Given the description of an element on the screen output the (x, y) to click on. 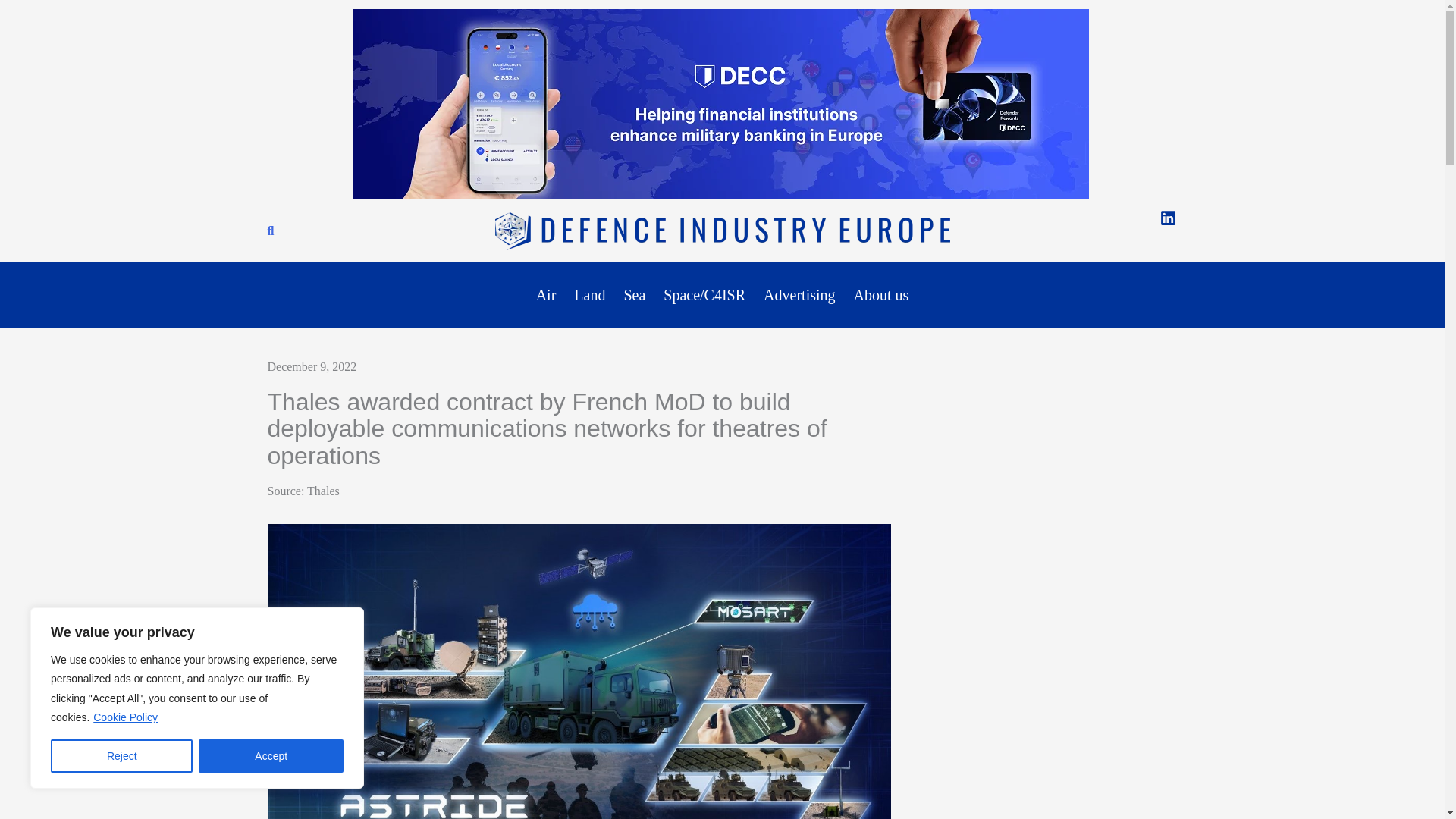
Sea (634, 295)
Advertising (798, 295)
Accept (270, 756)
Air (545, 295)
Cookie Policy (125, 716)
About us (880, 295)
Land (589, 295)
Reject (121, 756)
LinkedIn (1167, 217)
